Given the description of an element on the screen output the (x, y) to click on. 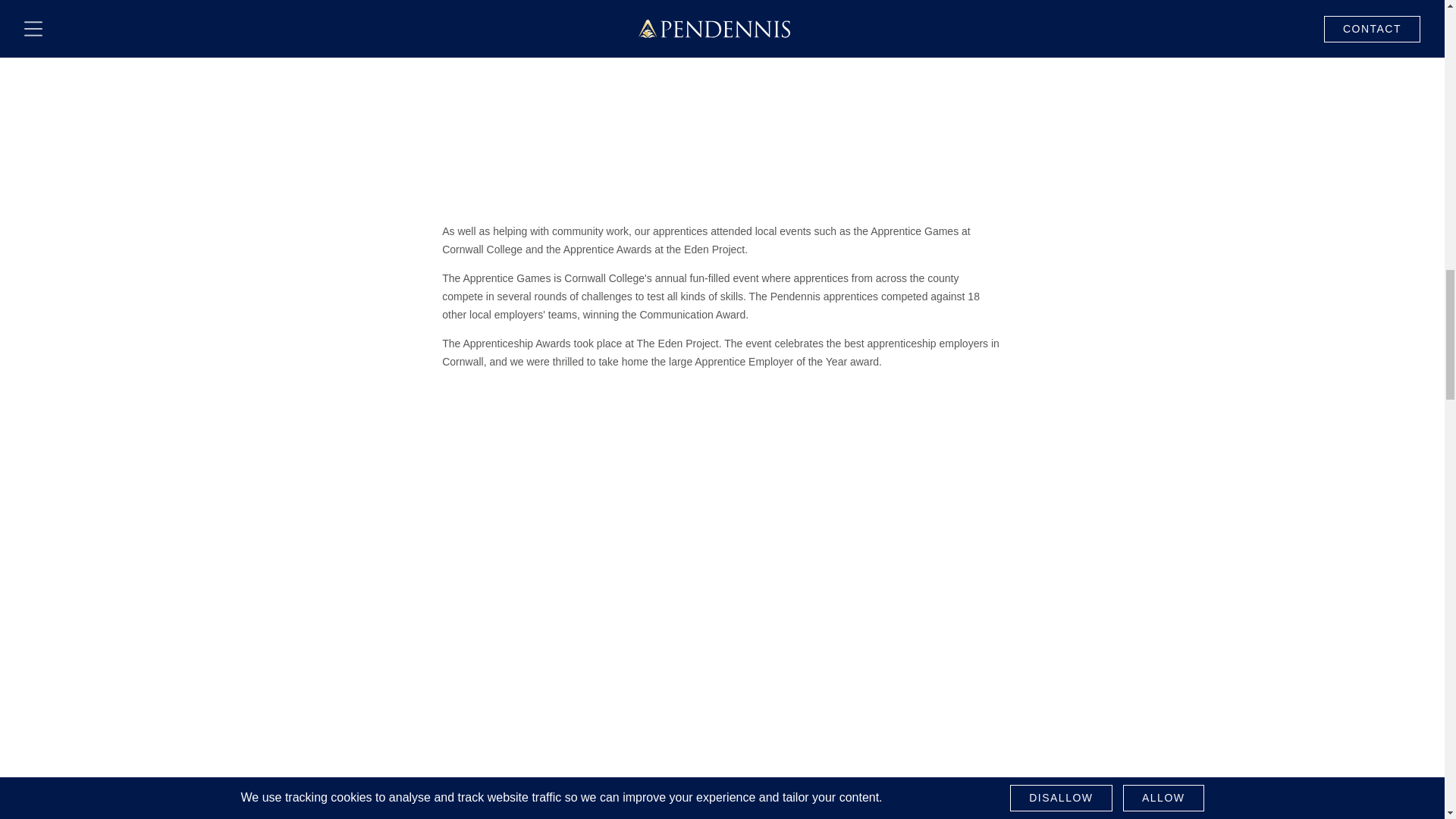
Pendennis Apprentice Community Week 2024 (721, 73)
